Given the description of an element on the screen output the (x, y) to click on. 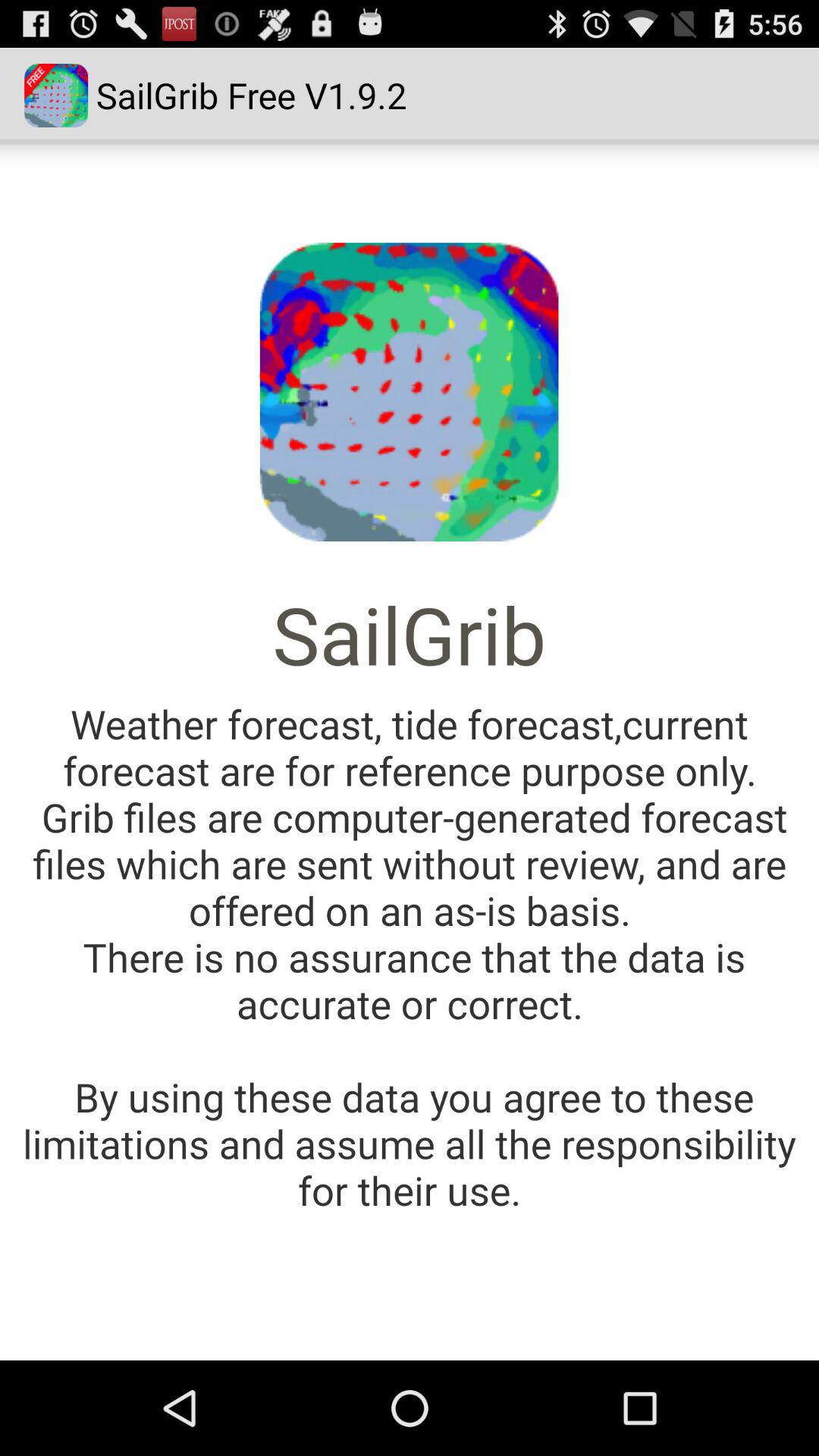
select weather forecast tide icon (409, 956)
